Given the description of an element on the screen output the (x, y) to click on. 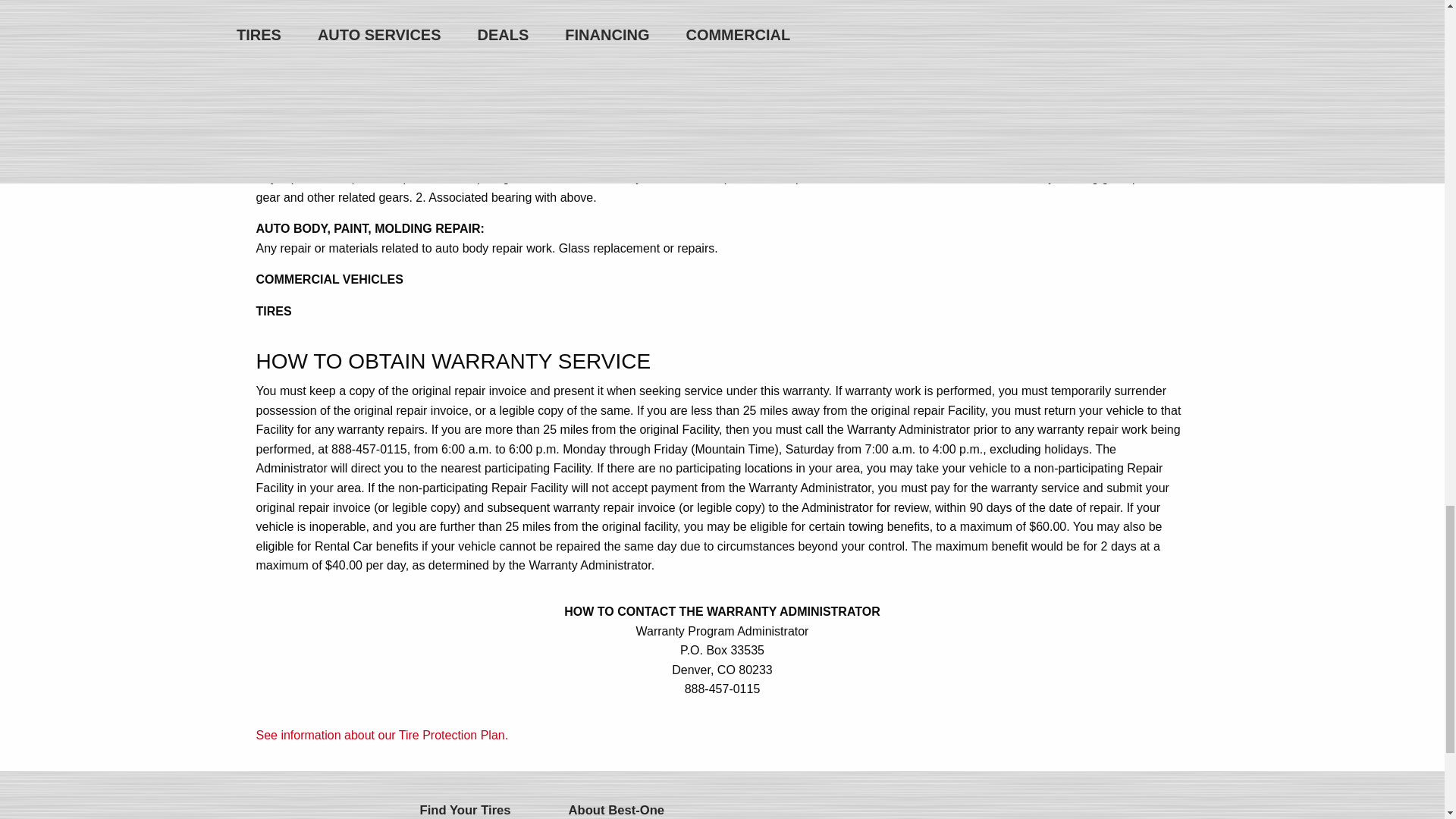
Find Your Tires (475, 807)
About Best-One (624, 807)
See information about our Tire Protection Plan. (382, 735)
Tire Protection Plan (382, 735)
